Given the description of an element on the screen output the (x, y) to click on. 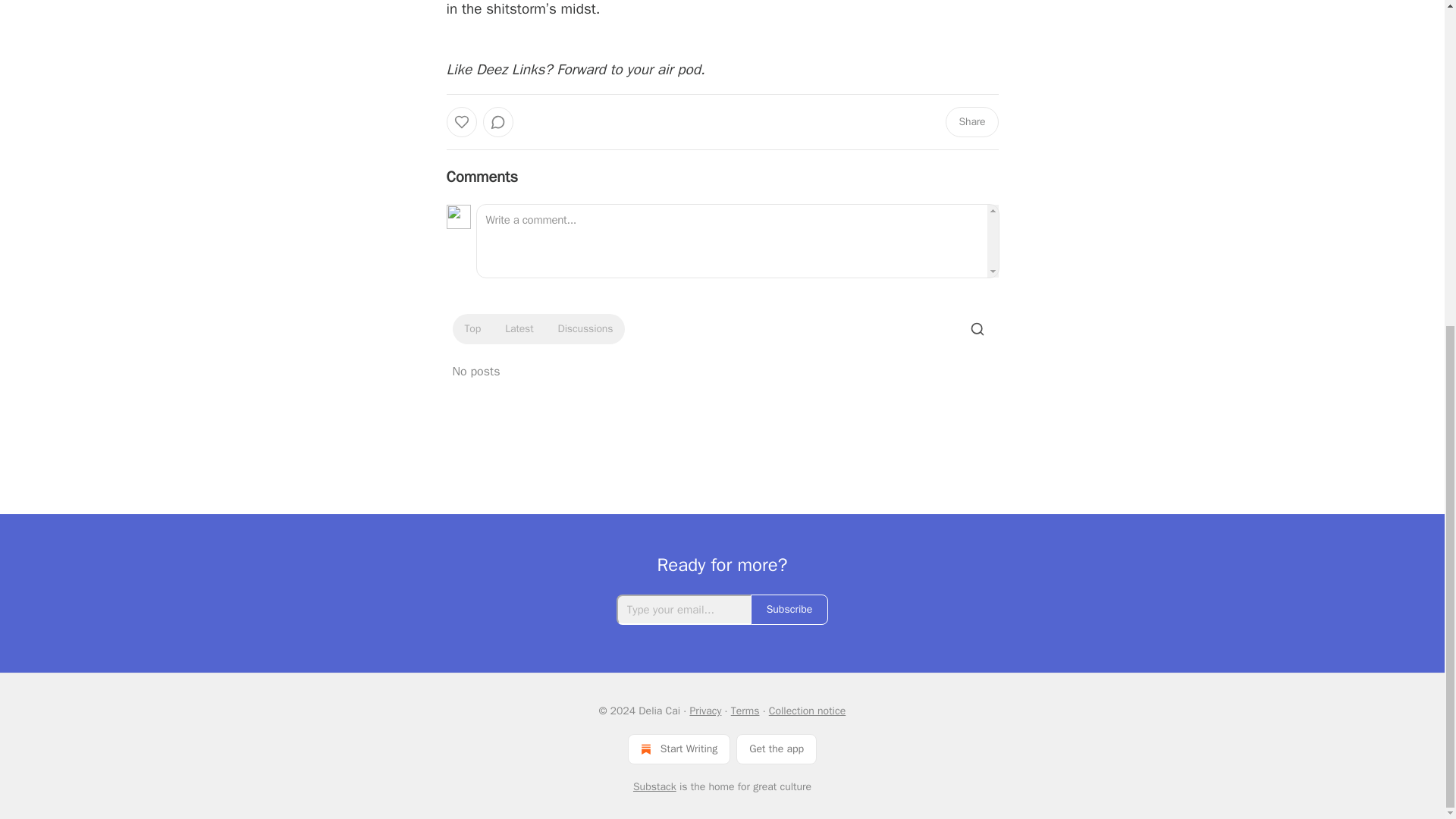
Discussions (585, 328)
Terms (745, 710)
Share (970, 122)
Top (471, 328)
Privacy (704, 710)
Subscribe (789, 609)
Latest (518, 328)
